Given the description of an element on the screen output the (x, y) to click on. 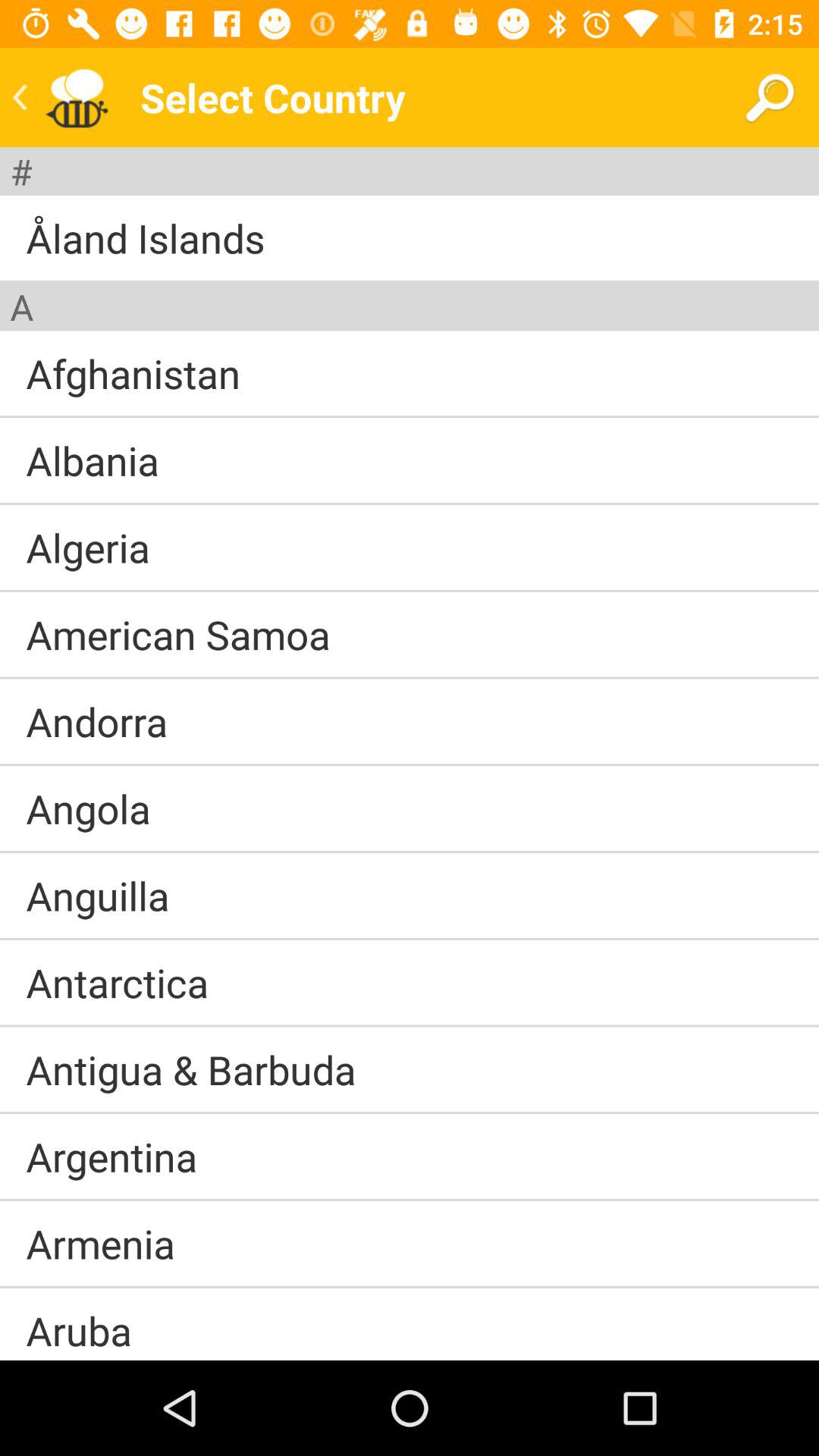
turn on the icon above american samoa item (409, 590)
